Given the description of an element on the screen output the (x, y) to click on. 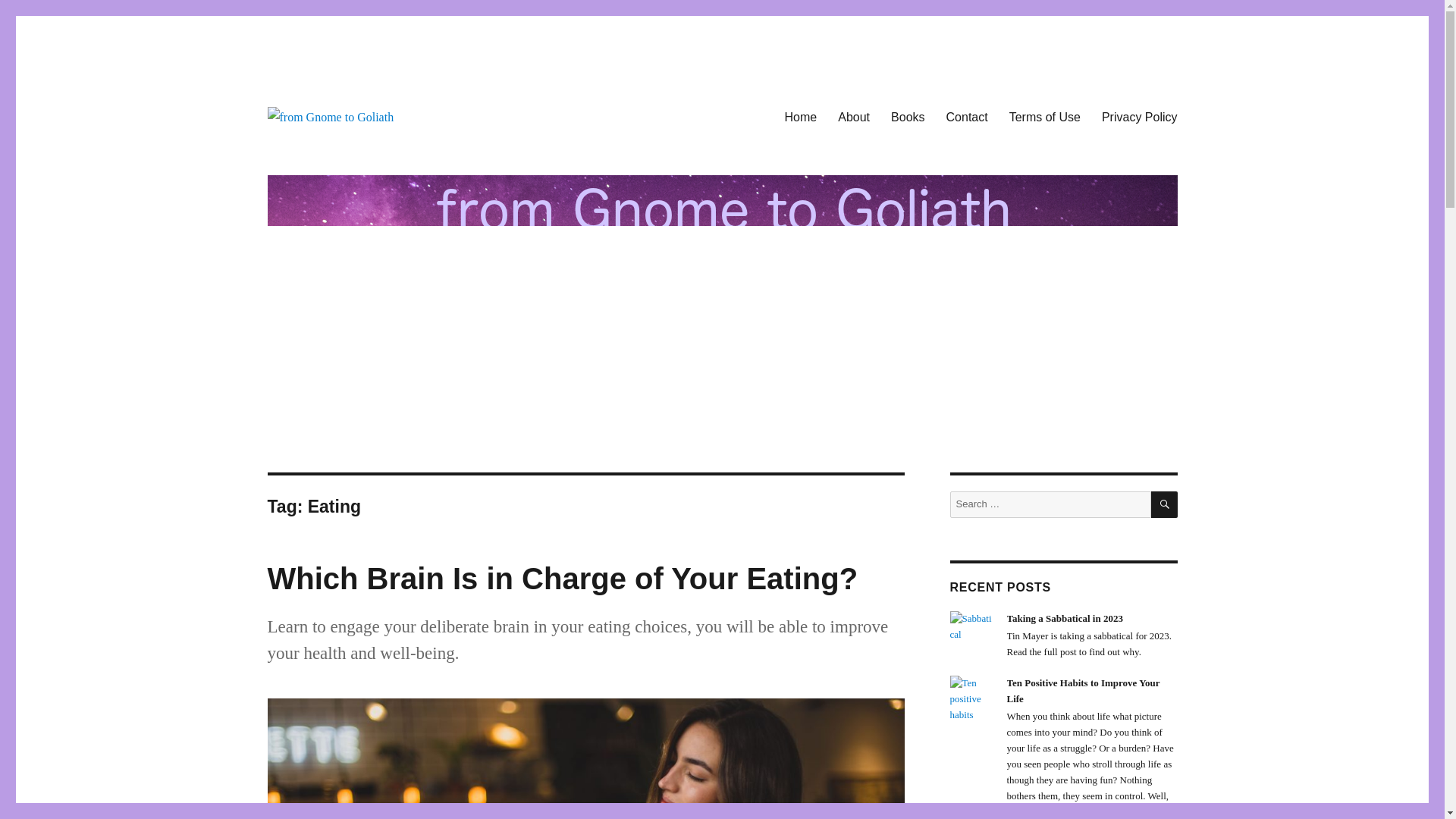
Which Brain Is in Charge of Your Eating? (561, 578)
Taking a Sabbatical in 2023 (1064, 618)
Ten Positive Habits to Improve Your Life (971, 697)
SEARCH (1164, 504)
Contact (967, 116)
Taking a Sabbatical in 2023 (971, 625)
from Gnome to Goliath (381, 151)
Ten Positive Habits to Improve Your Life (1083, 690)
About (853, 116)
Home (801, 116)
